Given the description of an element on the screen output the (x, y) to click on. 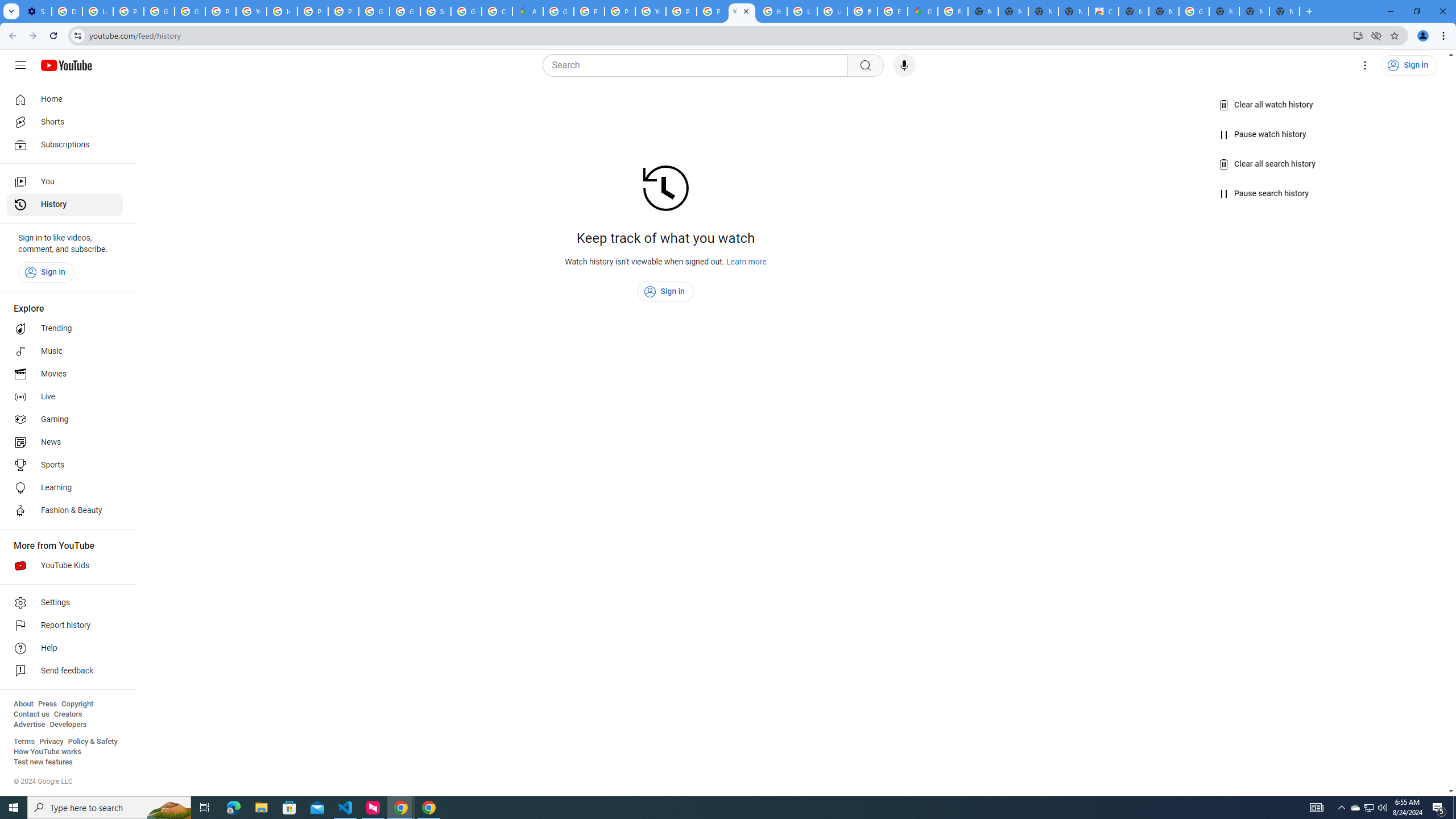
Send feedback (64, 671)
Install YouTube (1358, 35)
Learning (64, 487)
YouTube (741, 11)
Privacy Help Center - Policies Help (312, 11)
Movies (64, 373)
Privacy Help Center - Policies Help (589, 11)
New Tab (1163, 11)
New Tab (1224, 11)
